Given the description of an element on the screen output the (x, y) to click on. 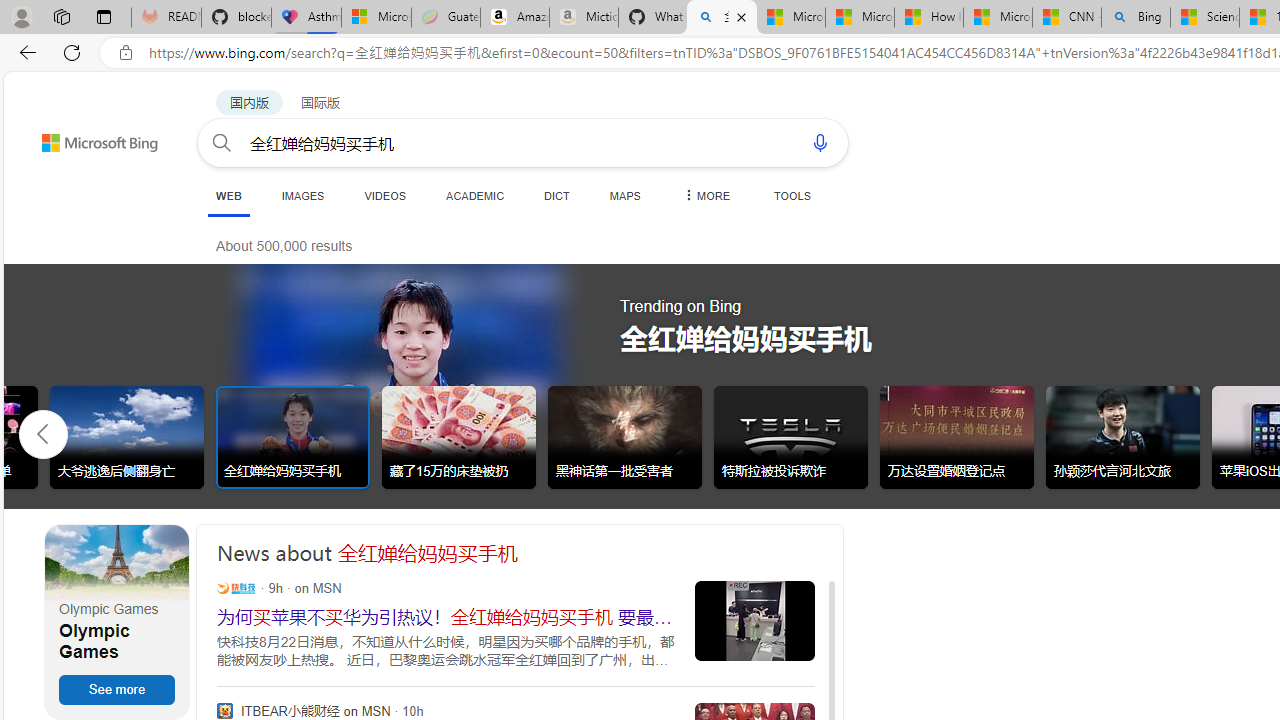
IMAGES (302, 195)
How I Got Rid of Microsoft Edge's Unnecessary Features (928, 17)
Olympic Games Olympic Games See more (116, 621)
